Given the description of an element on the screen output the (x, y) to click on. 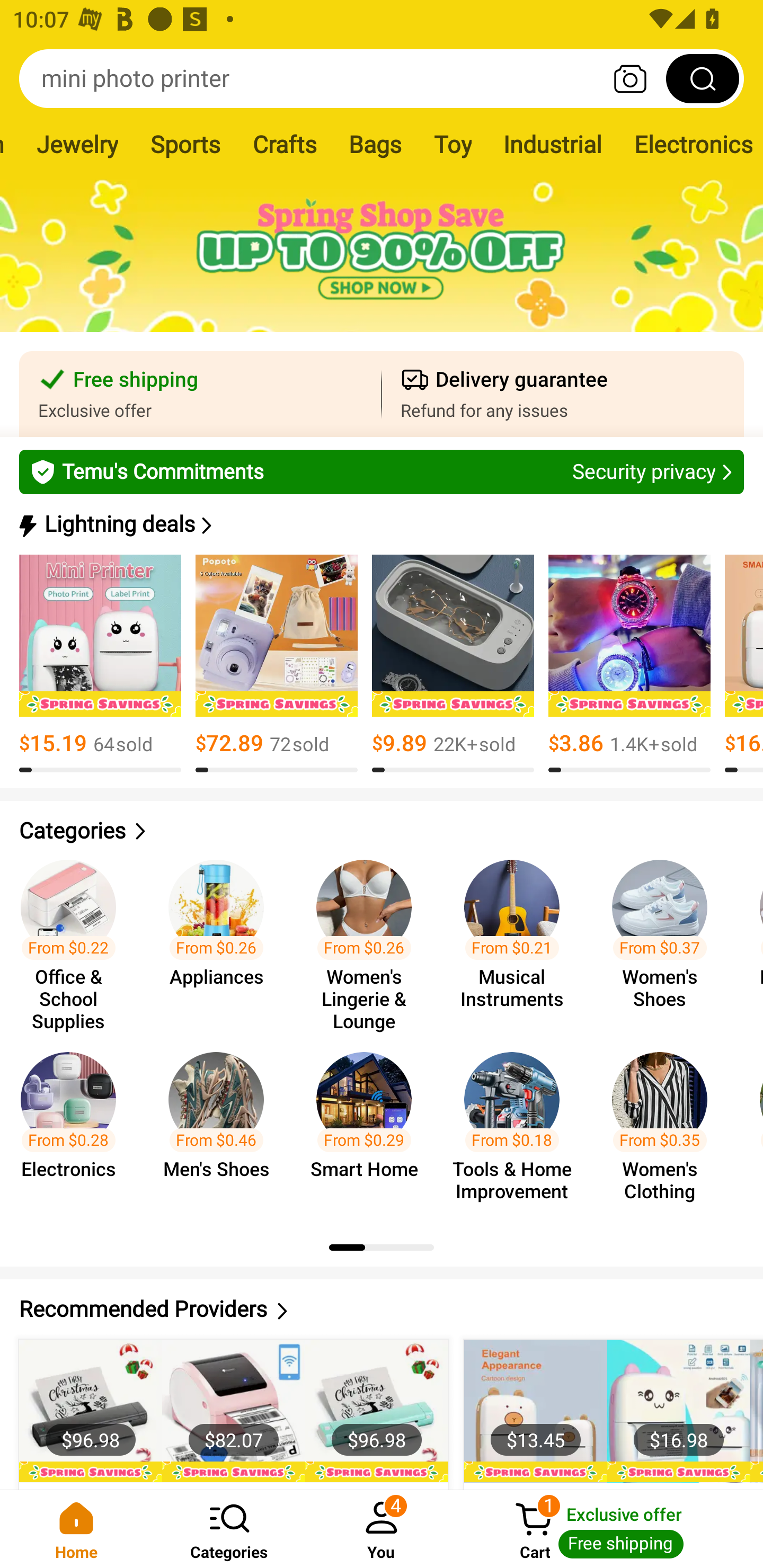
mini photo printer (381, 78)
Jewelry (76, 144)
Sports (185, 144)
Crafts (284, 144)
Bags (374, 144)
Toy (452, 144)
Industrial (552, 144)
Electronics (690, 144)
Free shipping Exclusive offer (200, 394)
Delivery guarantee Refund for any issues (562, 394)
Temu's Commitments (381, 471)
Lightning deals (379, 524)
$15.19 64￼sold 8.0 (100, 664)
$72.89 72￼sold 8.0 (276, 664)
$9.89 22K+￼sold 8.0 (453, 664)
$3.86 1.4K+￼sold 8.0 (629, 664)
Categories (381, 830)
From $0.22 Office & School Supplies (74, 936)
From $0.26 Appliances (222, 936)
From $0.26 Women's Lingerie & Lounge (369, 936)
From $0.21 Musical Instruments (517, 936)
From $0.37 Women's Shoes (665, 936)
From $0.28 Electronics (74, 1128)
From $0.46 Men's Shoes (222, 1128)
From $0.29 Smart Home (369, 1128)
From $0.18 Tools & Home Improvement (517, 1128)
From $0.35 Women's Clothing (665, 1128)
Recommended Providers (381, 1309)
Home (76, 1528)
Categories (228, 1528)
You 4 You (381, 1528)
Cart 1 Cart Exclusive offer (610, 1528)
